Given the description of an element on the screen output the (x, y) to click on. 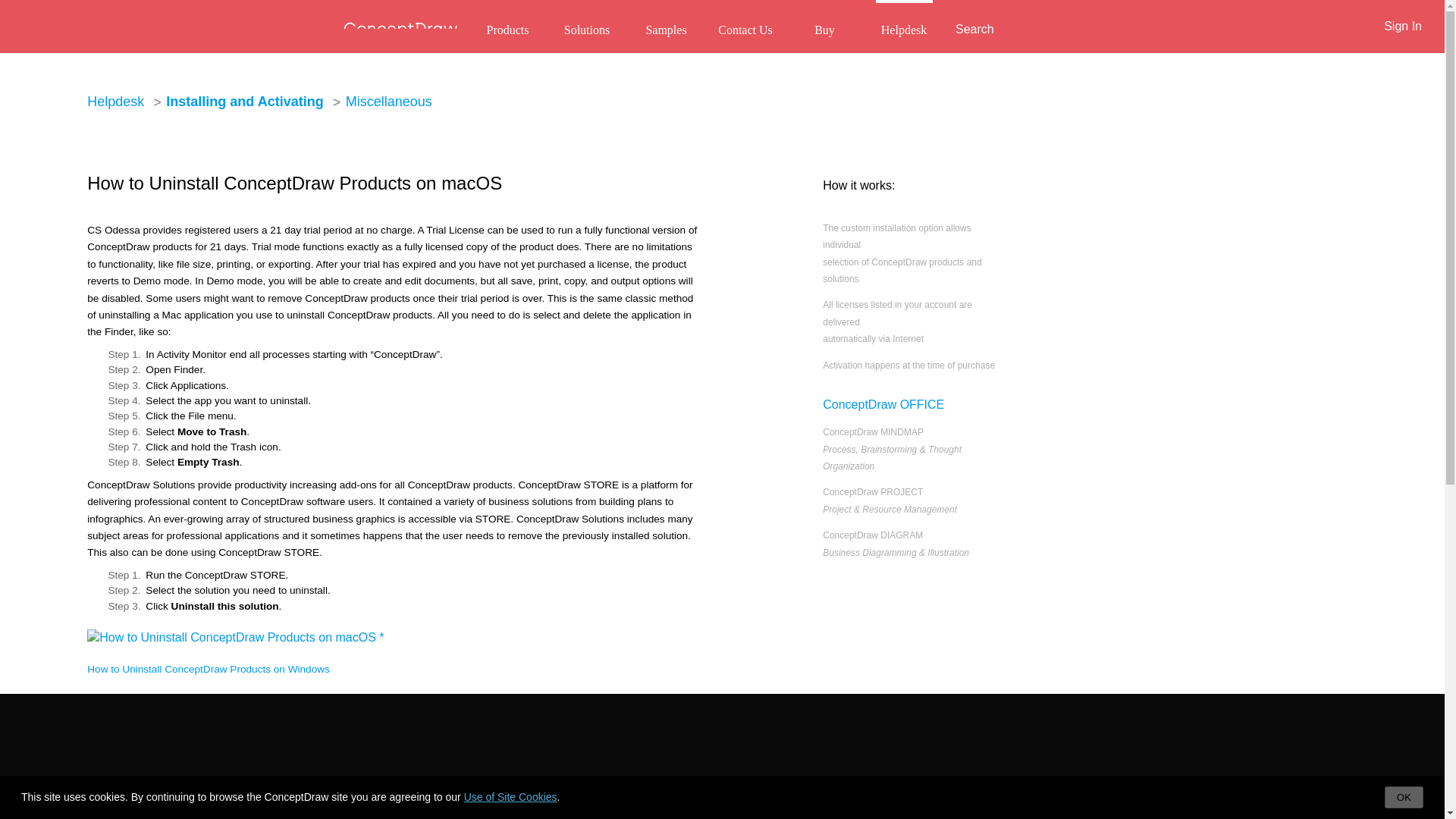
Solutions (585, 29)
OK (1403, 797)
Sign In (1403, 26)
Installing and Activating (244, 101)
Buy (824, 29)
Helpdesk (903, 29)
Use of Site Cookies (510, 797)
Contact Us (745, 29)
How to Uninstall ConceptDraw Products on Windows (208, 668)
Helpdesk (115, 101)
Samples (665, 29)
Products (507, 29)
ConceptDraw OFFICE (882, 404)
Products (401, 786)
ConceptDraw OFFICE v10 (434, 812)
